Given the description of an element on the screen output the (x, y) to click on. 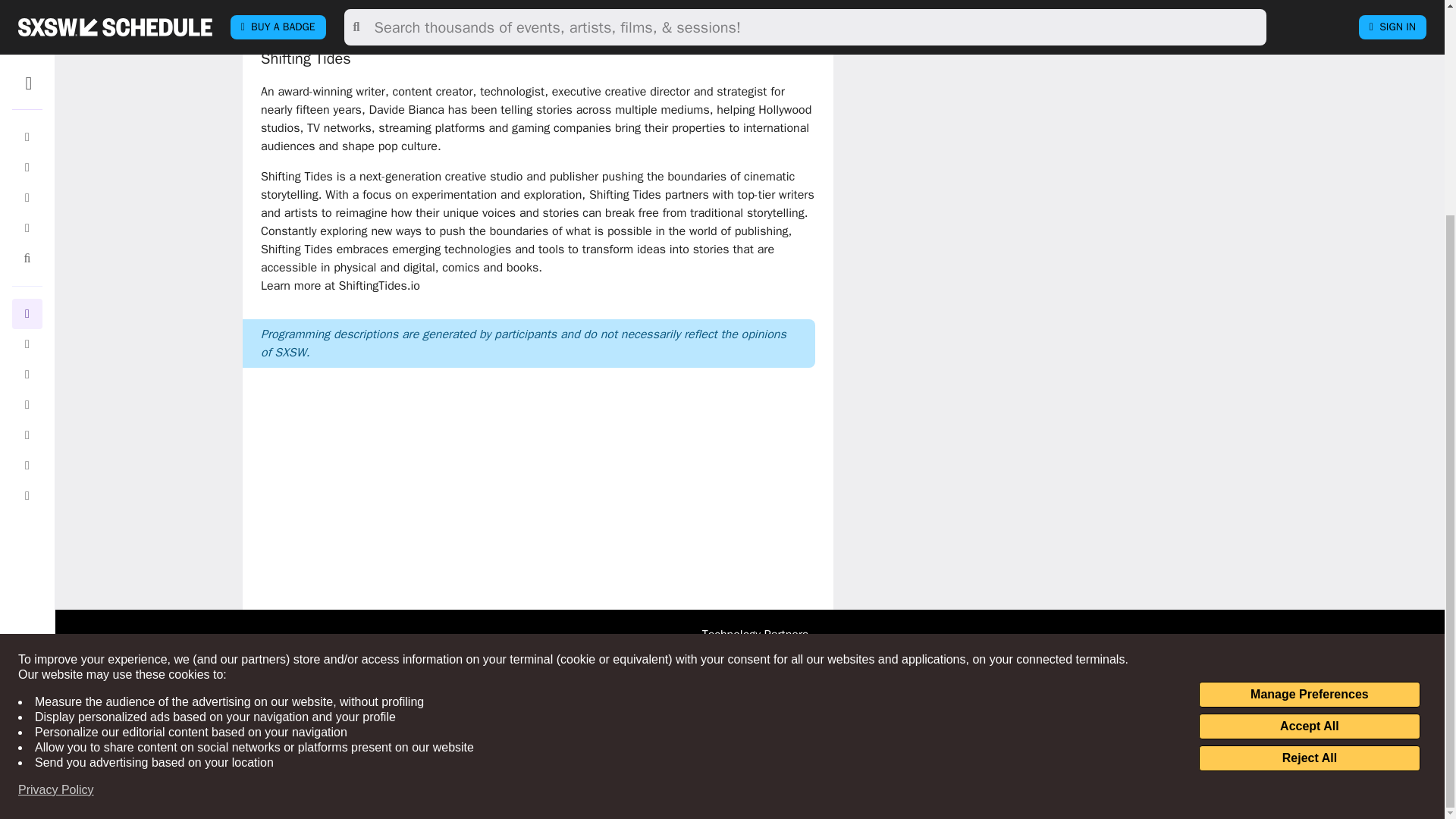
Privacy Policy (55, 507)
Manage Preferences (1309, 412)
Accept All (1309, 444)
Reject All (1309, 475)
